Given the description of an element on the screen output the (x, y) to click on. 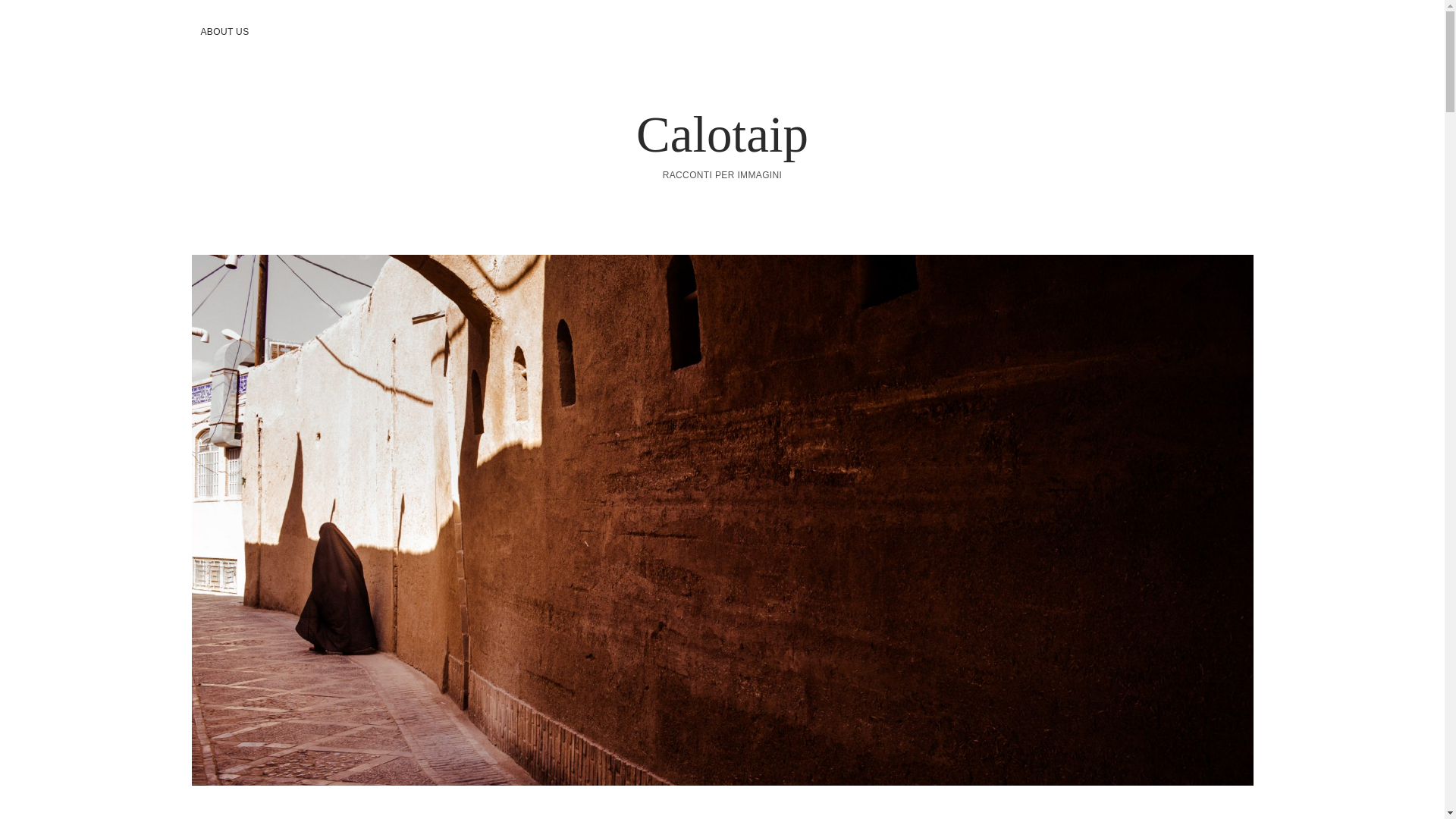
ABOUT US (223, 31)
Calotaip (722, 134)
